Given the description of an element on the screen output the (x, y) to click on. 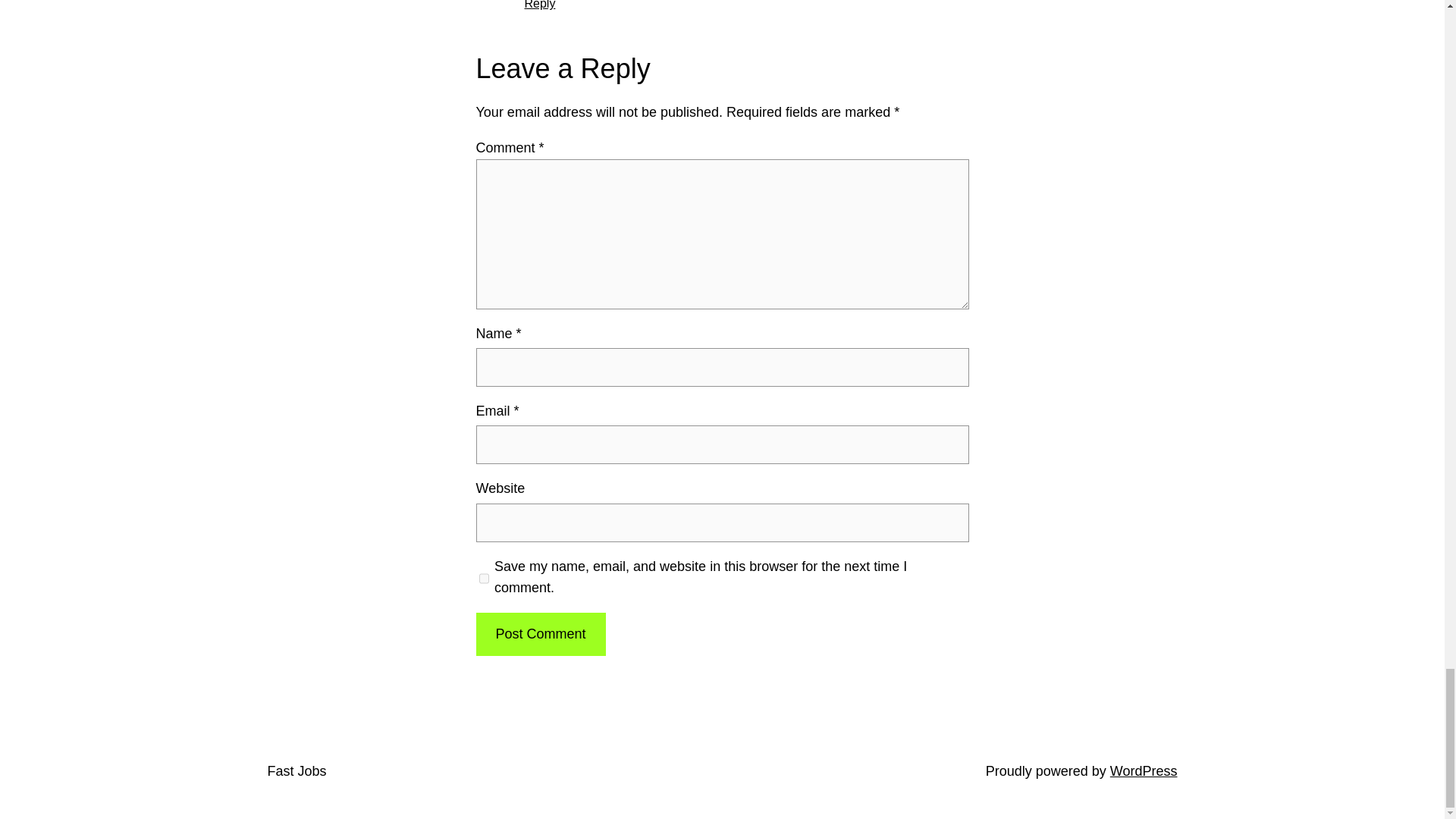
Post Comment (540, 634)
Fast Jobs (296, 770)
WordPress (1143, 770)
Reply (540, 4)
Post Comment (540, 634)
